Given the description of an element on the screen output the (x, y) to click on. 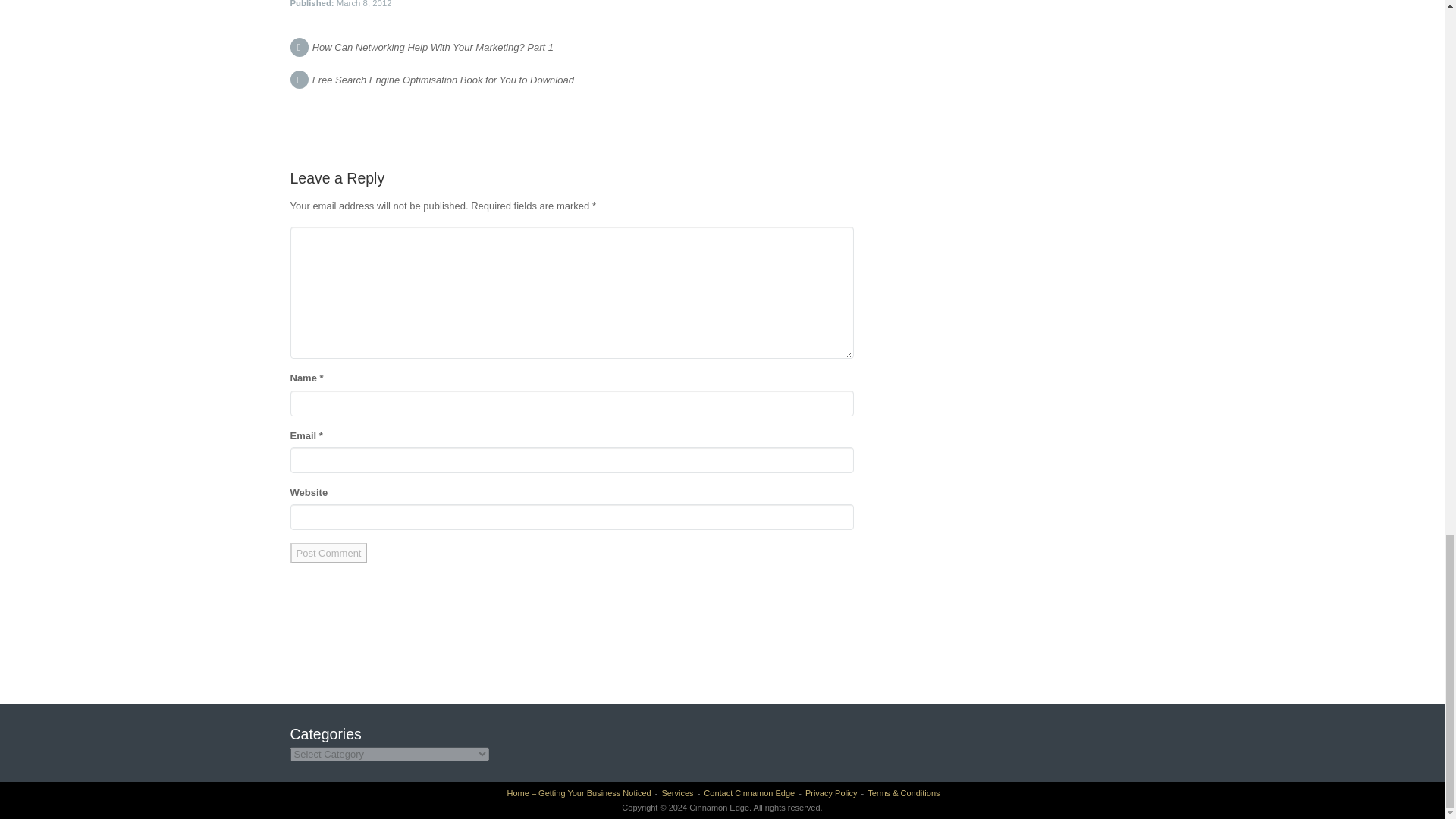
Post Comment (327, 552)
Post Comment (327, 552)
How Can Networking Help With Your Marketing? Part 1 (433, 47)
Free Search Engine Optimisation Book for You to Download (443, 79)
